Given the description of an element on the screen output the (x, y) to click on. 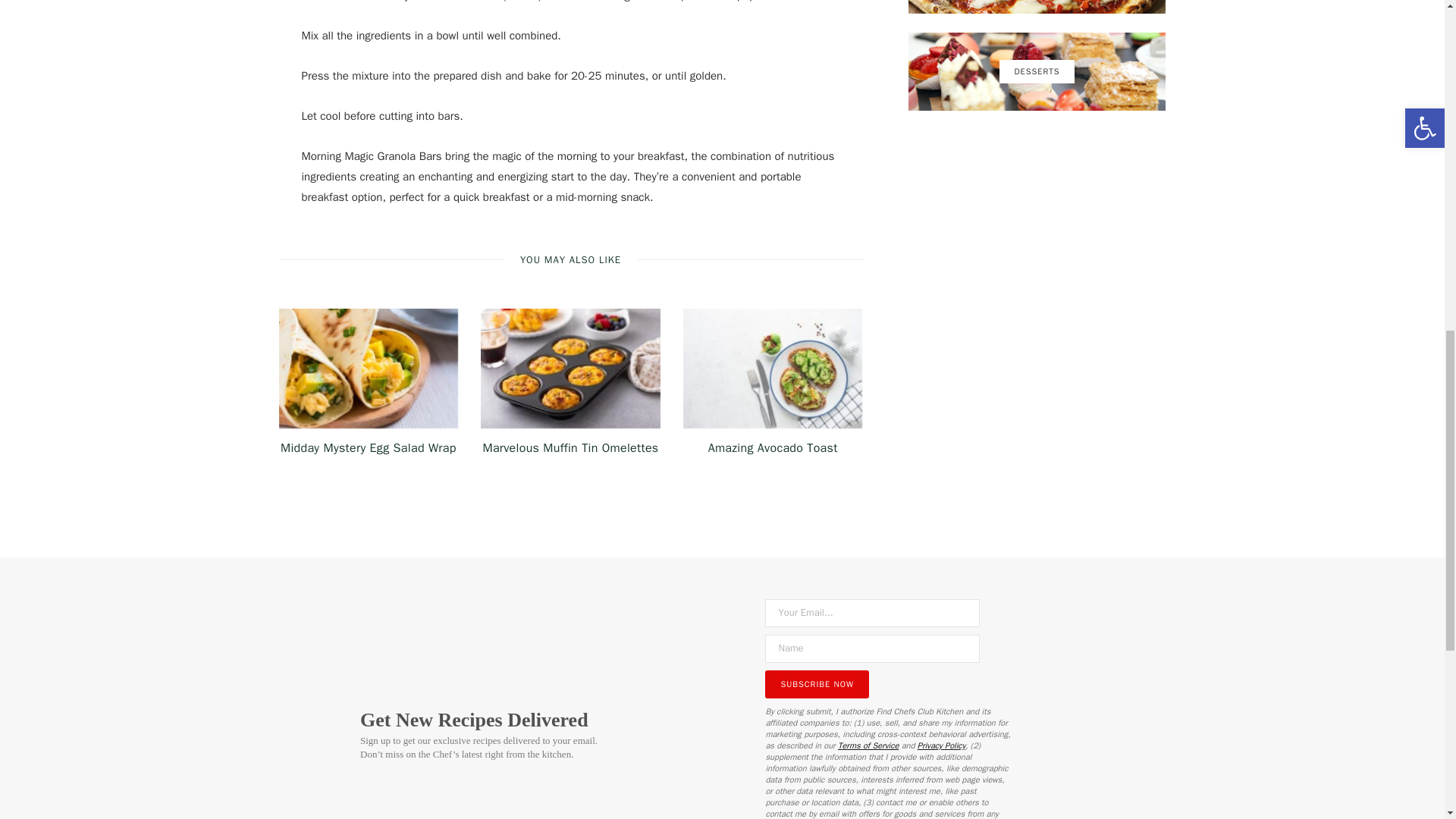
SUBSCRIBE NOW (817, 684)
